Given the description of an element on the screen output the (x, y) to click on. 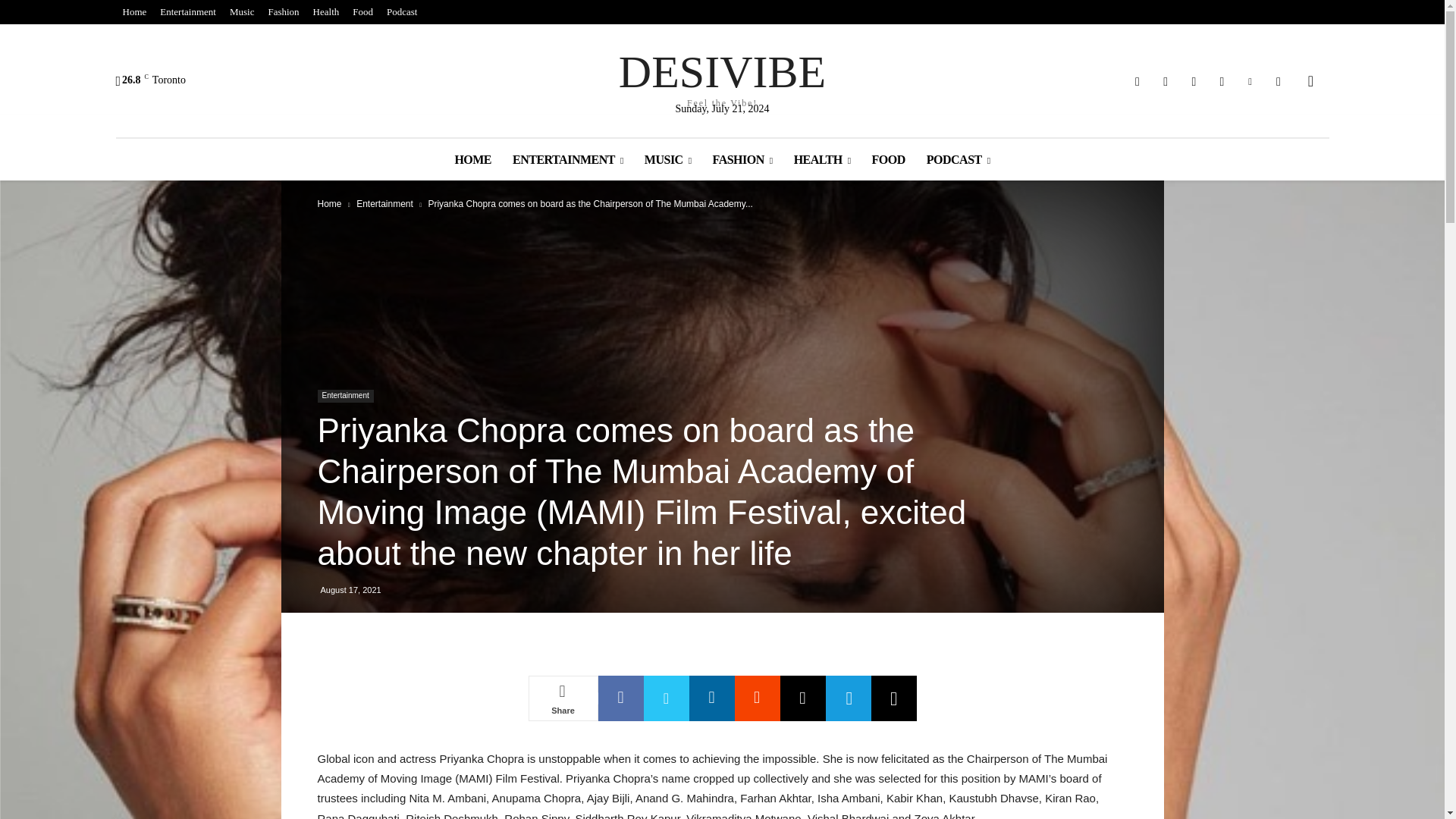
Entertainment (722, 76)
Home (187, 12)
Music (133, 12)
Health (242, 12)
Food (325, 12)
Podcast (363, 12)
Fashion (401, 12)
